Given the description of an element on the screen output the (x, y) to click on. 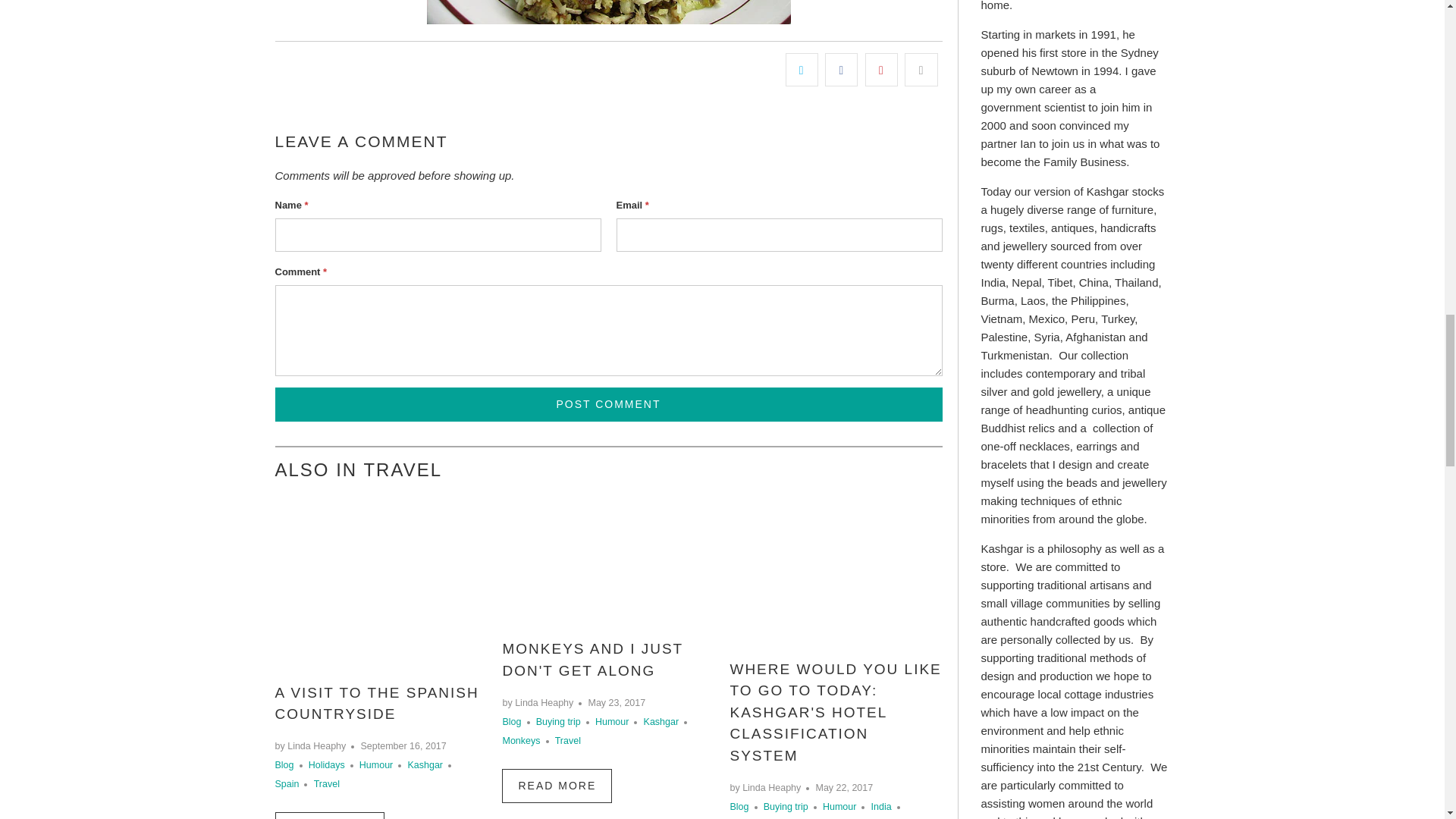
Post comment (608, 404)
